Given the description of an element on the screen output the (x, y) to click on. 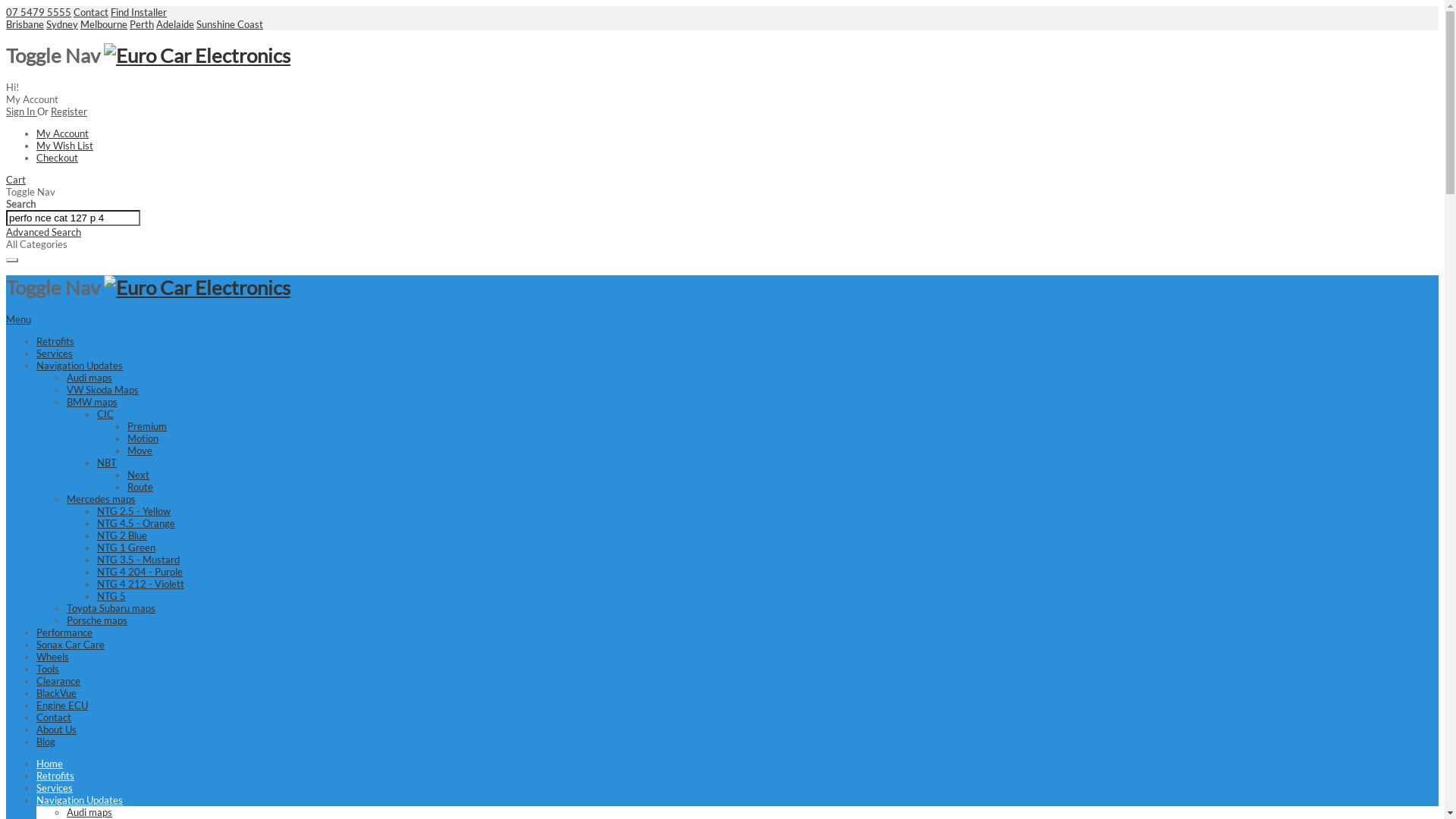
Retrofits Element type: text (55, 775)
Melbourne Element type: text (103, 24)
Premium Element type: text (146, 426)
Sydney Element type: text (62, 24)
VW Skoda Maps Element type: text (102, 389)
NTG 5 Element type: text (111, 595)
Advanced Search Element type: text (43, 231)
NTG 4 204 - Purple Element type: text (139, 571)
About Us Element type: text (56, 729)
Brisbane Element type: text (24, 24)
Contact Element type: text (90, 12)
Adelaide Element type: text (175, 24)
Register Element type: text (68, 111)
Search Element type: hover (12, 259)
Retrofits Element type: text (55, 341)
Audi maps Element type: text (89, 812)
Move Element type: text (139, 450)
Toyota Subaru maps Element type: text (110, 608)
Next Element type: text (138, 474)
Route Element type: text (140, 486)
My Account Element type: text (62, 133)
Euro Car Electronics Element type: hover (196, 55)
Porsche maps Element type: text (96, 620)
Tools Element type: text (47, 668)
Sign In Element type: text (21, 111)
Sunshine Coast Element type: text (229, 24)
CIC Element type: text (105, 413)
Euro Car Electronics Element type: hover (196, 287)
Motion Element type: text (142, 438)
Perth Element type: text (141, 24)
Engine ECU Element type: text (61, 705)
BMW maps Element type: text (91, 401)
NTG 1 Green Element type: text (126, 547)
Contact Element type: text (53, 717)
Navigation Updates Element type: text (79, 799)
Cart Element type: text (15, 179)
Clearance Element type: text (58, 680)
Services Element type: text (54, 787)
Find Installer Element type: text (138, 12)
NTG 4 212 - Violett Element type: text (140, 583)
Home Element type: text (49, 763)
NBT Element type: text (106, 462)
Navigation Updates Element type: text (79, 365)
My Wish List Element type: text (64, 145)
NTG 3.5 - Mustard Element type: text (138, 559)
Performance Element type: text (64, 632)
NTG 4.5 - Orange Element type: text (136, 523)
Blog Element type: text (45, 741)
NTG 2 Blue Element type: text (122, 535)
BlackVue Element type: text (56, 693)
Mercedes maps Element type: text (100, 498)
NTG 2.5 - Yellow Element type: text (133, 511)
Services Element type: text (54, 353)
Sonax Car Care Element type: text (70, 644)
Wheels Element type: text (52, 656)
07 5479 5555 Element type: text (38, 12)
Audi maps Element type: text (89, 377)
Checkout Element type: text (57, 157)
Menu Element type: text (18, 319)
